Given the description of an element on the screen output the (x, y) to click on. 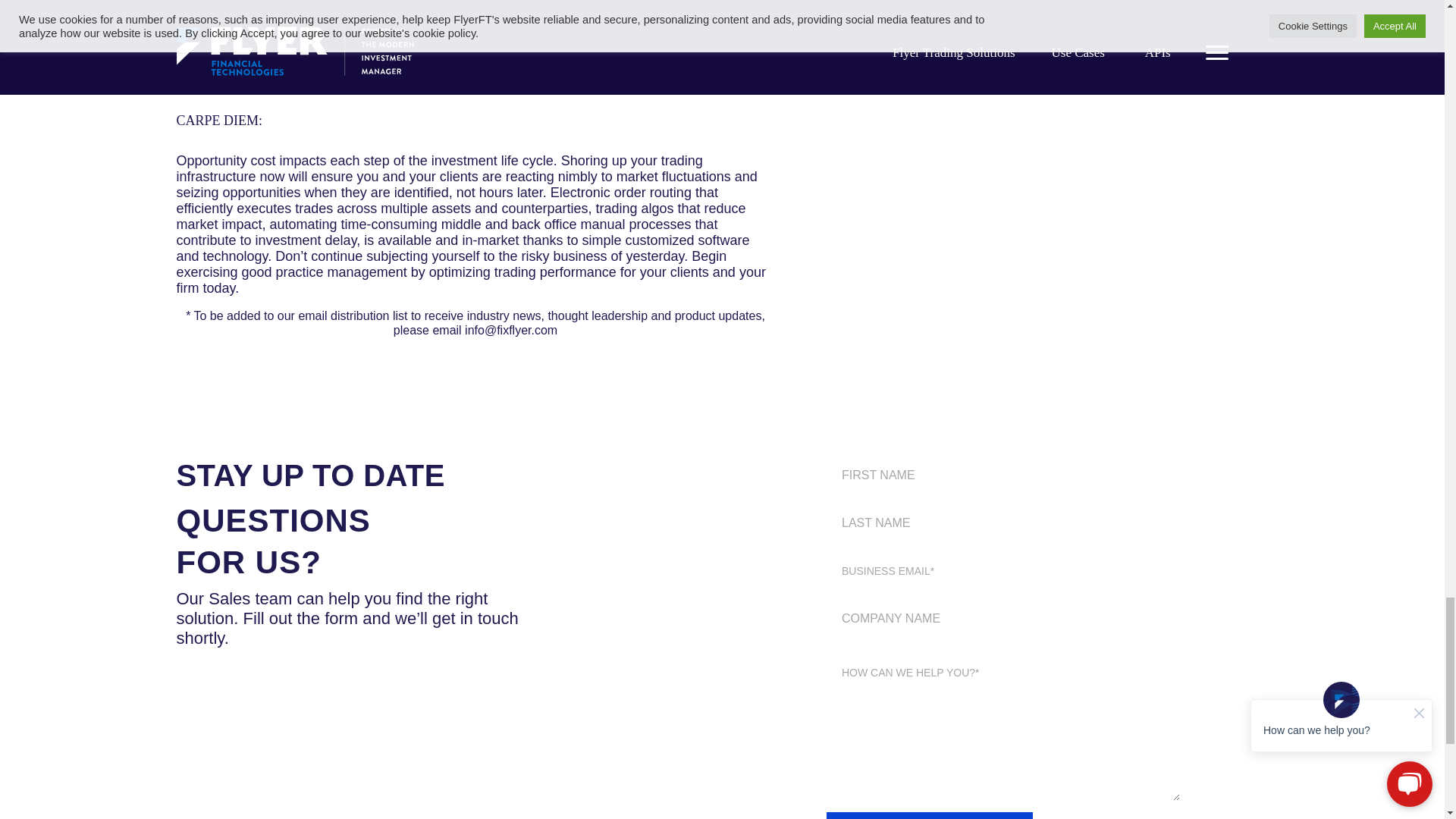
Submit (929, 815)
